Given the description of an element on the screen output the (x, y) to click on. 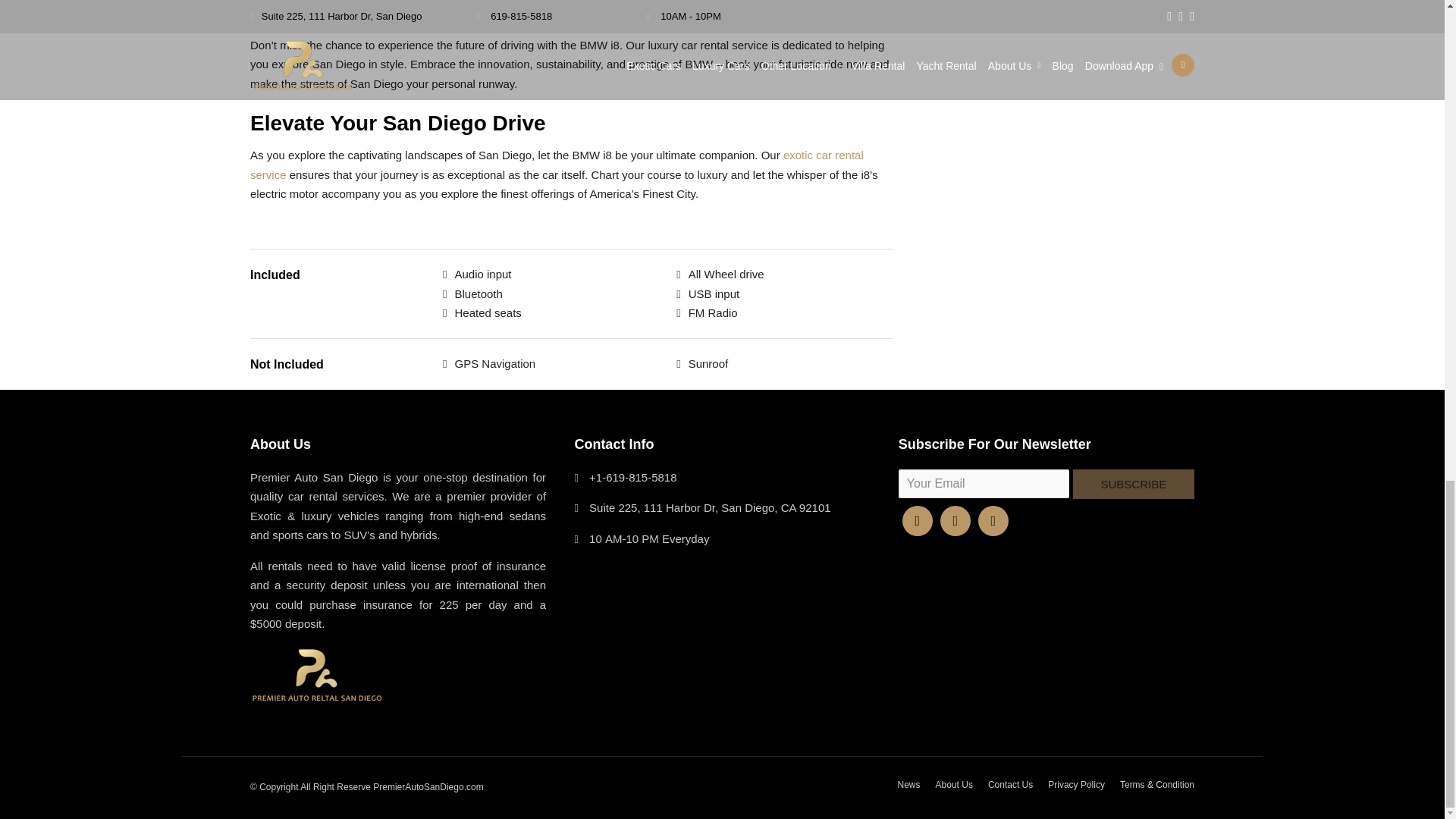
Instagram (993, 521)
Twitter (955, 521)
Facebook (917, 521)
